Given the description of an element on the screen output the (x, y) to click on. 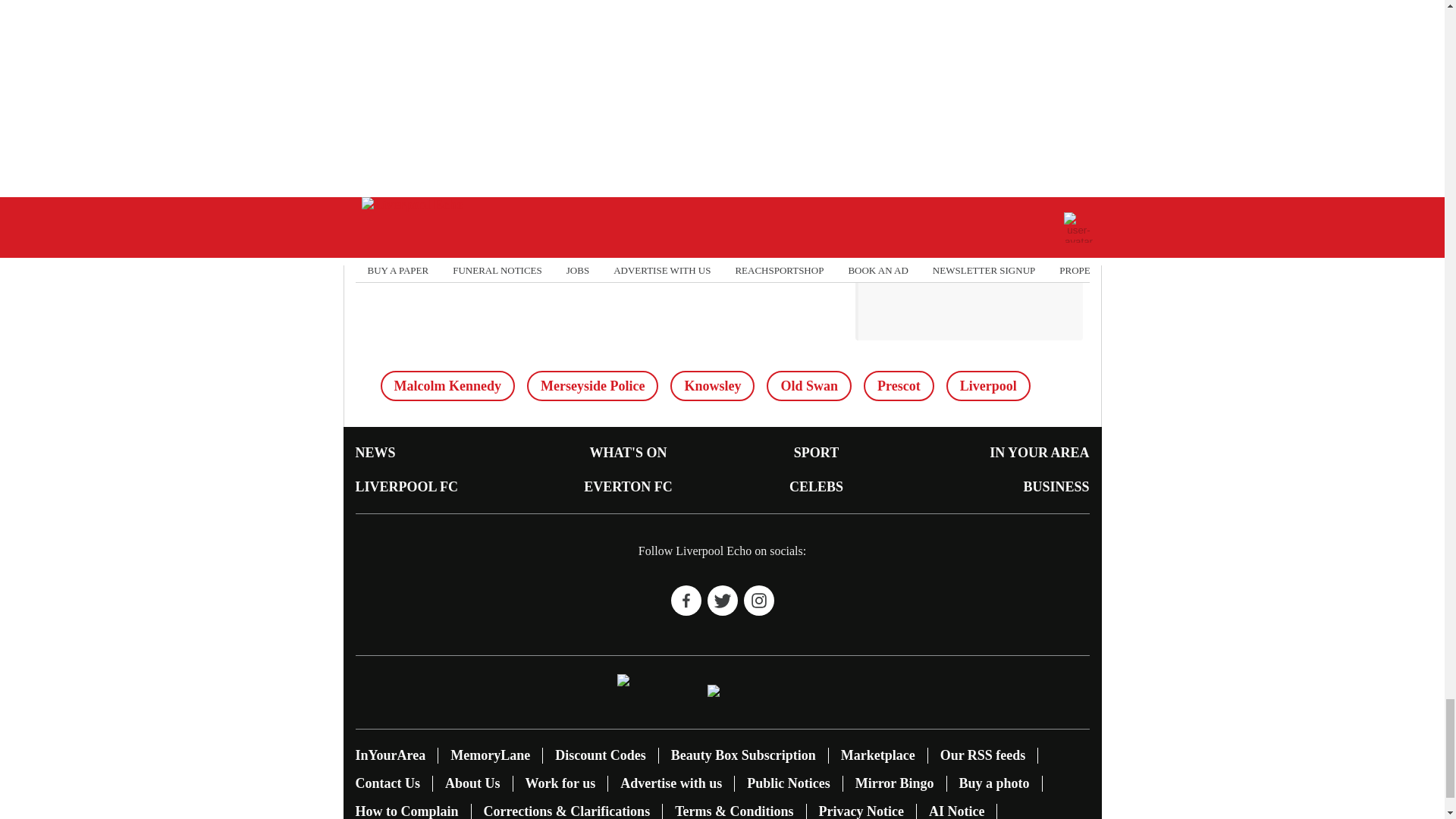
Knowsley (711, 386)
Liverpool (988, 386)
Prescot (898, 386)
Malcolm Kennedy (447, 386)
Merseyside Police (592, 386)
Old Swan (809, 386)
